Given the description of an element on the screen output the (x, y) to click on. 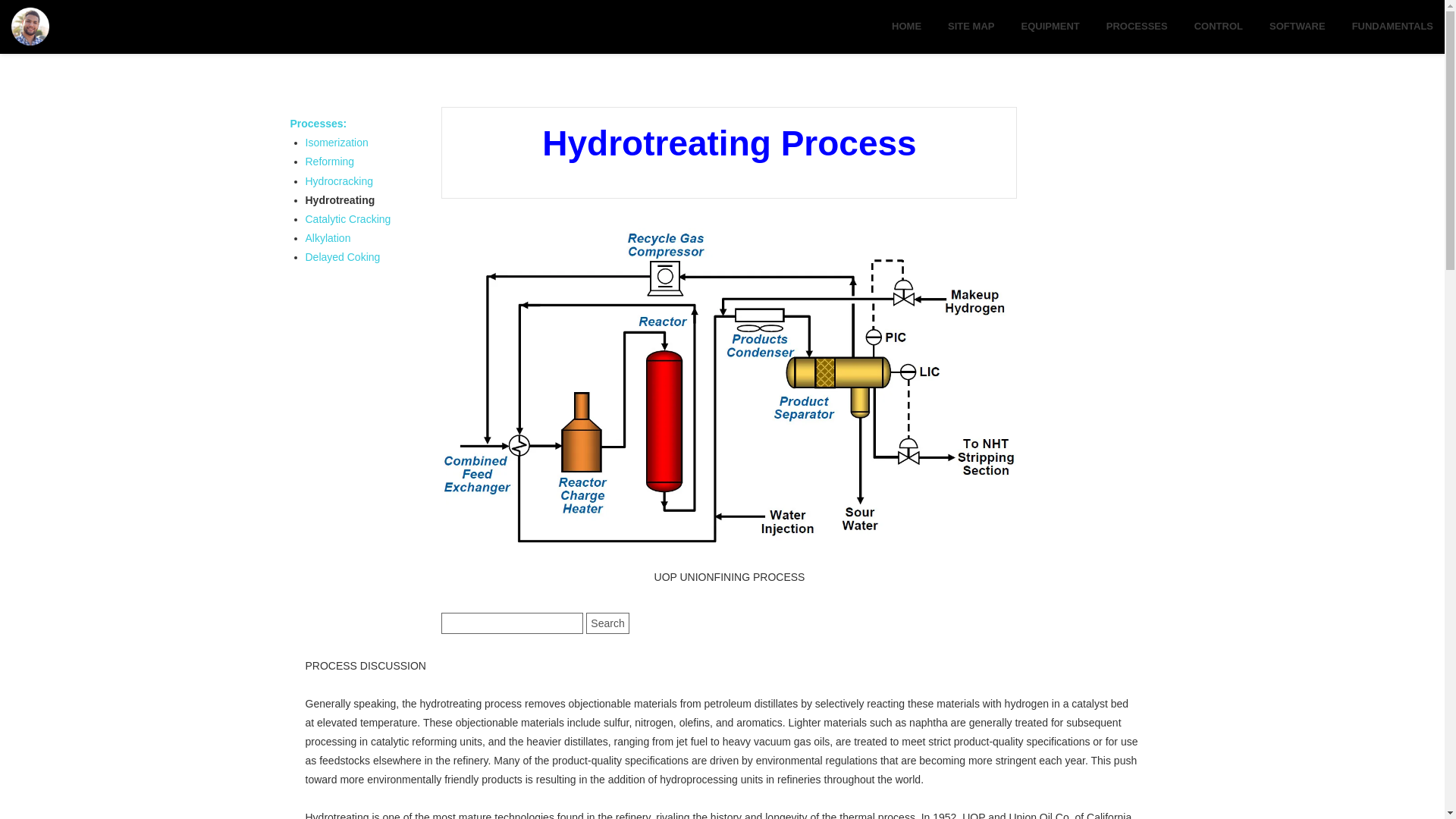
FUNDAMENTALS (1392, 26)
Isomerization (336, 142)
Search (607, 622)
EQUIPMENT (1049, 26)
Processes: (317, 123)
HOME (906, 26)
Alkylation (327, 237)
SITE MAP (970, 26)
CONTROL (1218, 26)
PROCESSES (1136, 26)
Hydrocracking (338, 181)
Delayed Coking (342, 256)
Search (607, 622)
SOFTWARE (1296, 26)
Catalytic Cracking (347, 218)
